Given the description of an element on the screen output the (x, y) to click on. 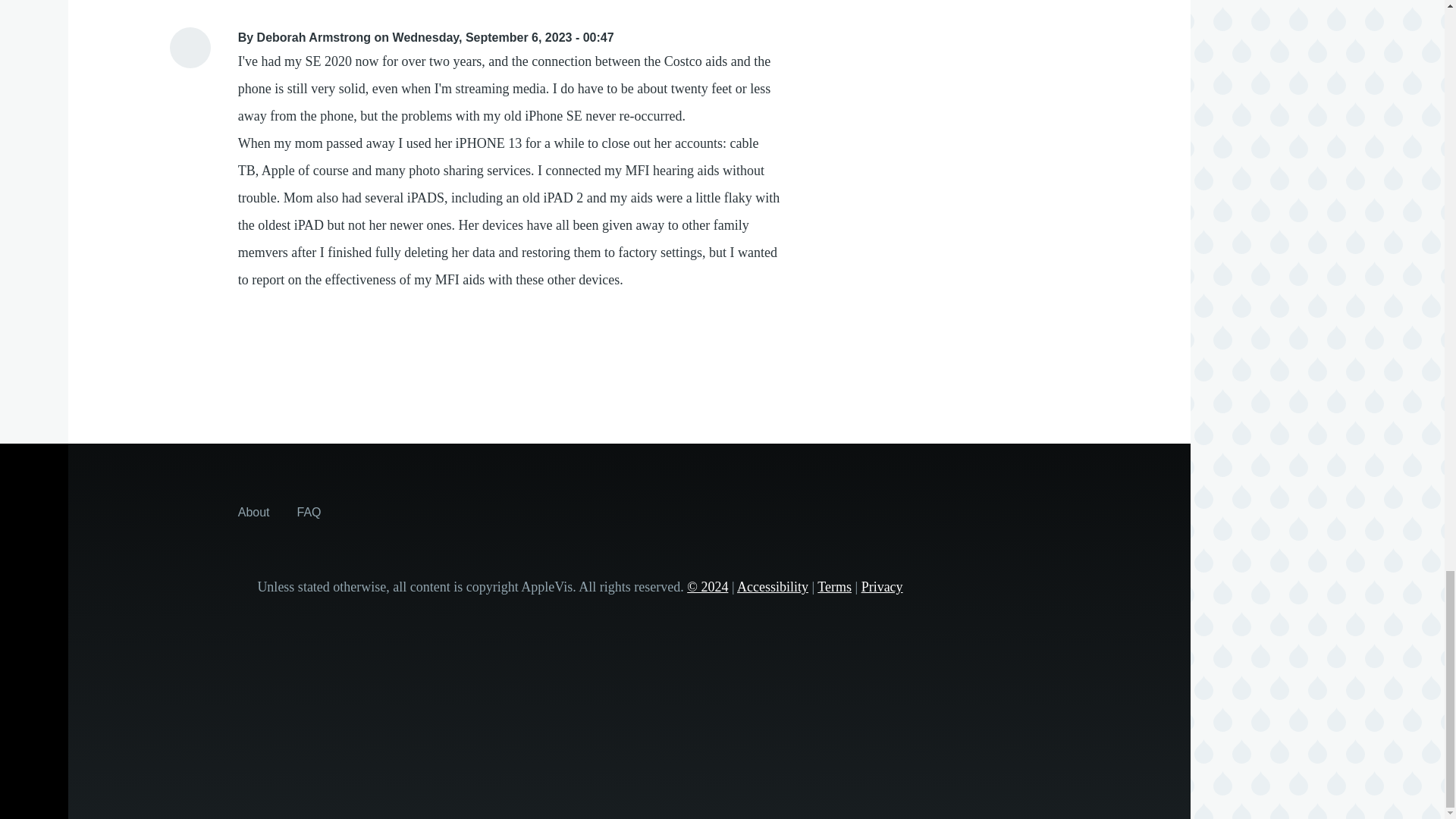
About (253, 511)
About (253, 511)
Accessibility (772, 586)
Privacy (881, 586)
Terms (833, 586)
